Given the description of an element on the screen output the (x, y) to click on. 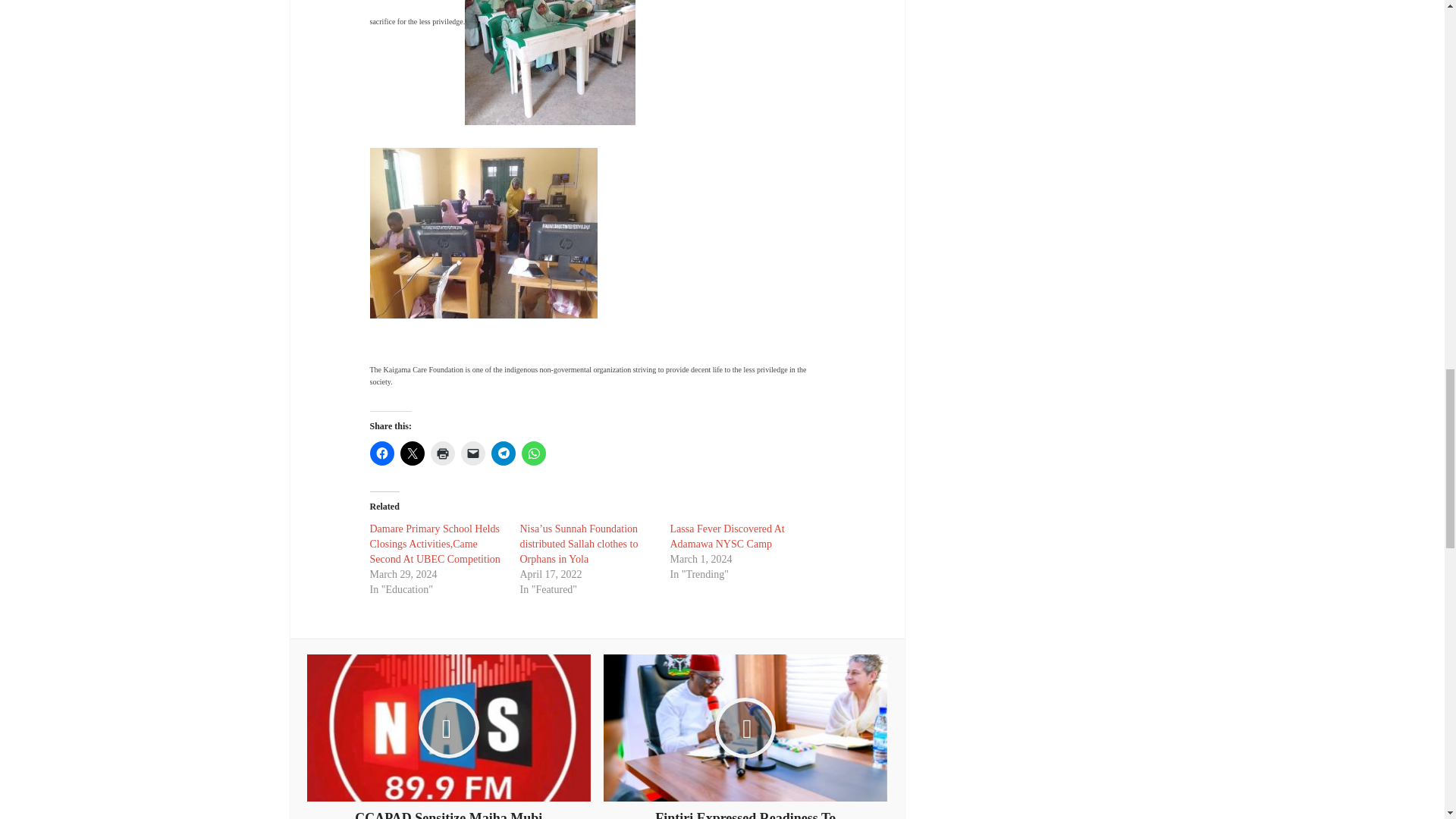
Lassa Fever Discovered At Adamawa NYSC Camp (726, 536)
Click to share on WhatsApp (533, 453)
Click to share on Facebook (381, 453)
Click to share on X (412, 453)
Click to share on Telegram (503, 453)
Click to email a link to a friend (472, 453)
Click to print (442, 453)
